Given the description of an element on the screen output the (x, y) to click on. 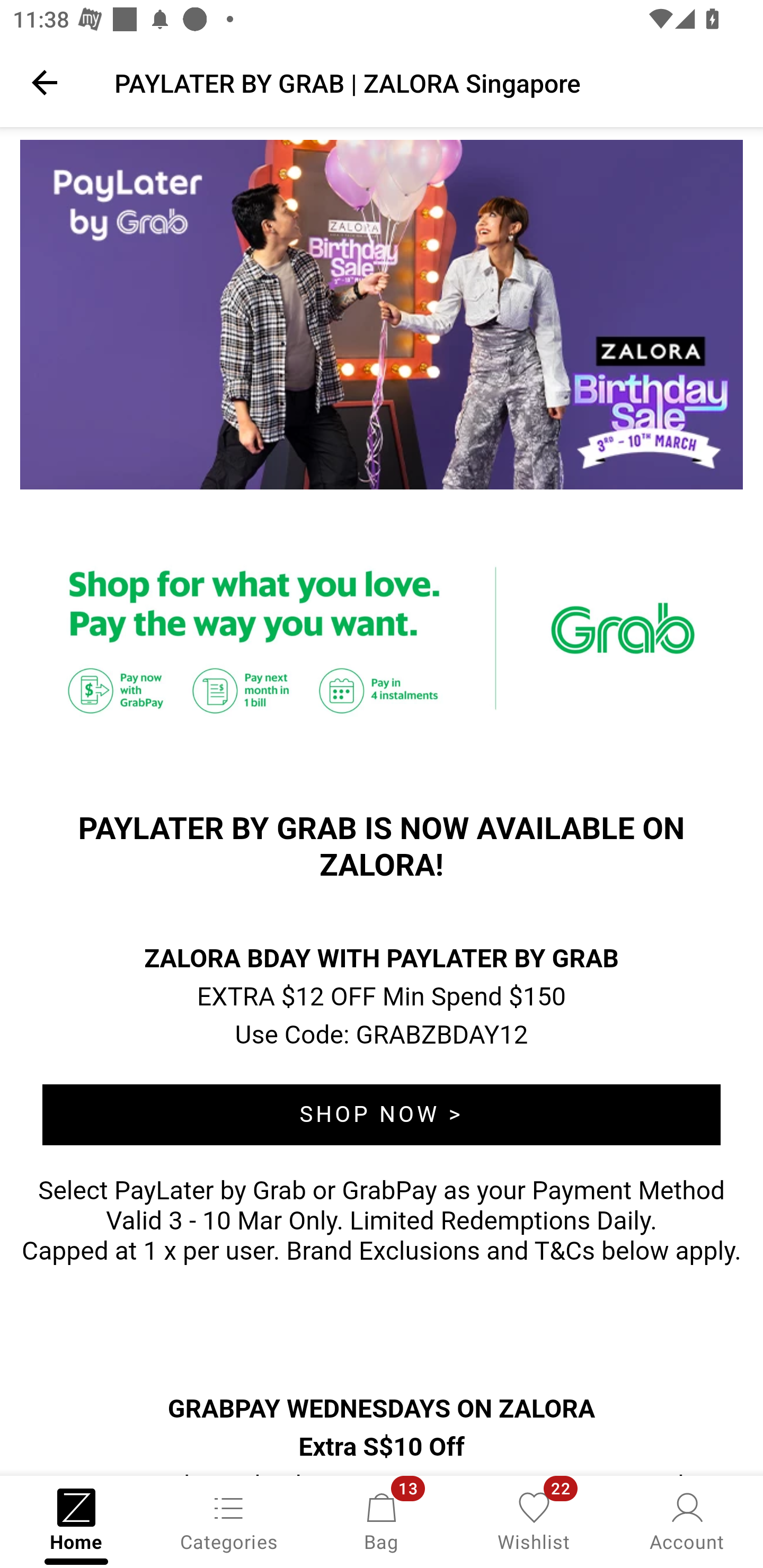
Navigate up (44, 82)
PAYLATER BY GRAB | ZALORA Singapore (426, 82)
SHOP NOW > (381, 1114)
Categories (228, 1519)
Bag, 13 new notifications Bag (381, 1519)
Wishlist, 22 new notifications Wishlist (533, 1519)
Account (686, 1519)
